Given the description of an element on the screen output the (x, y) to click on. 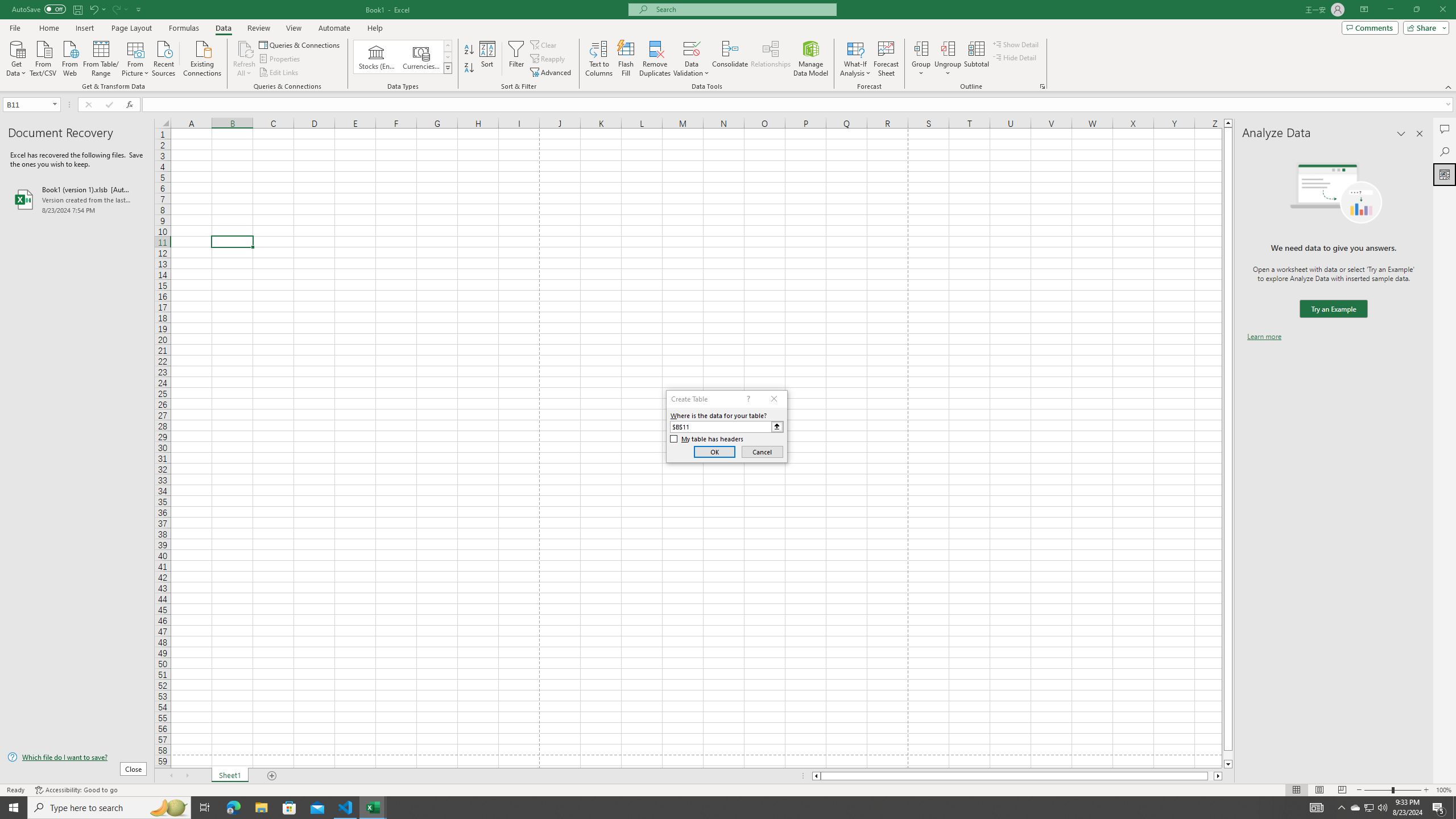
Insert (83, 28)
Data Validation... (691, 58)
Ungroup... (947, 48)
Collapse the Ribbon (1448, 86)
Ribbon Display Options (1364, 9)
Relationships (770, 58)
Consolidate... (729, 58)
Group and Outline Settings (1042, 85)
Home (48, 28)
Hide Detail (1014, 56)
Restore Down (1416, 9)
Sort A to Z (469, 49)
